Given the description of an element on the screen output the (x, y) to click on. 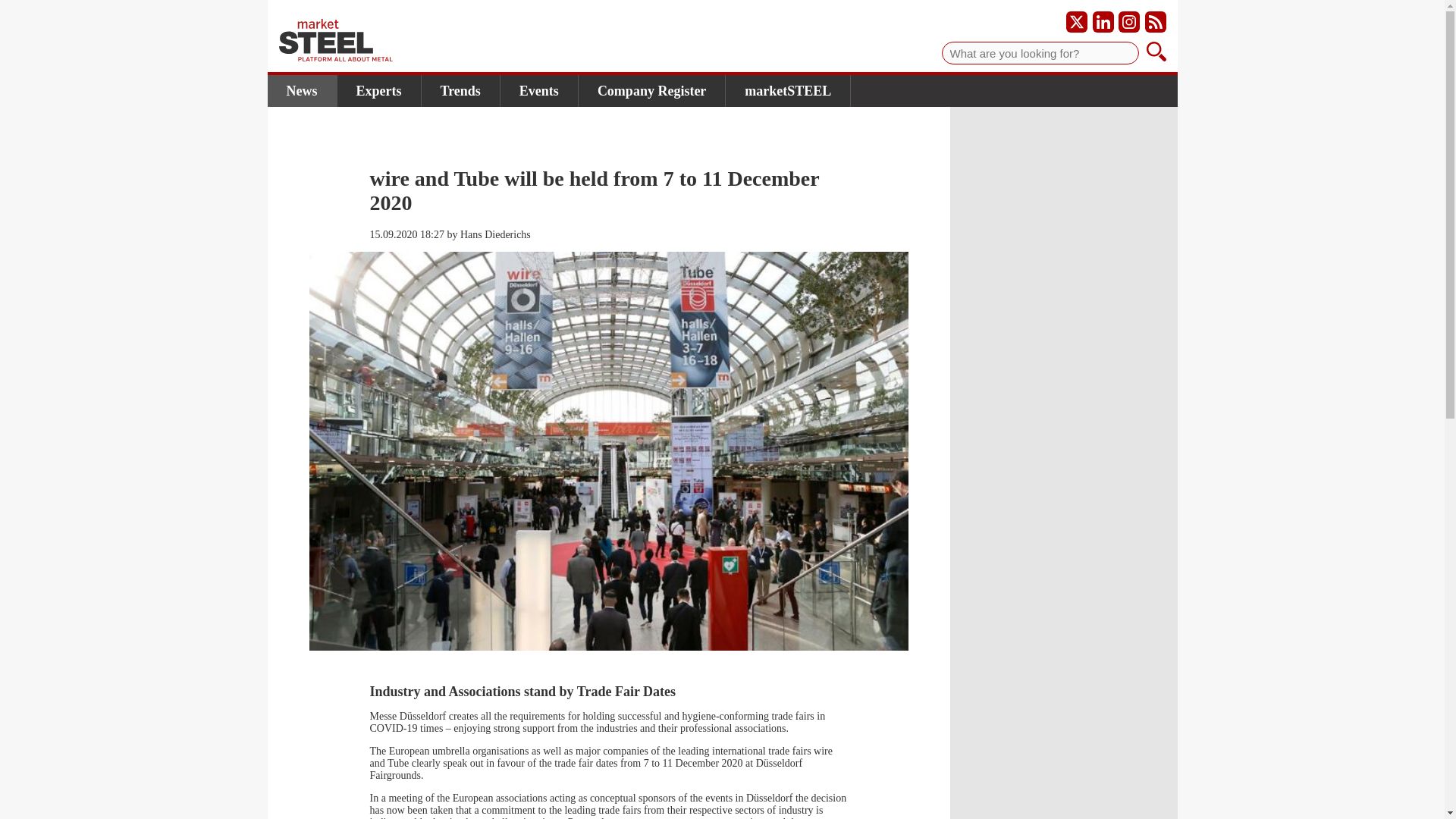
News (301, 91)
Experts (378, 91)
Experts (378, 91)
News (301, 91)
Trends (461, 91)
Trends (461, 91)
